Given the description of an element on the screen output the (x, y) to click on. 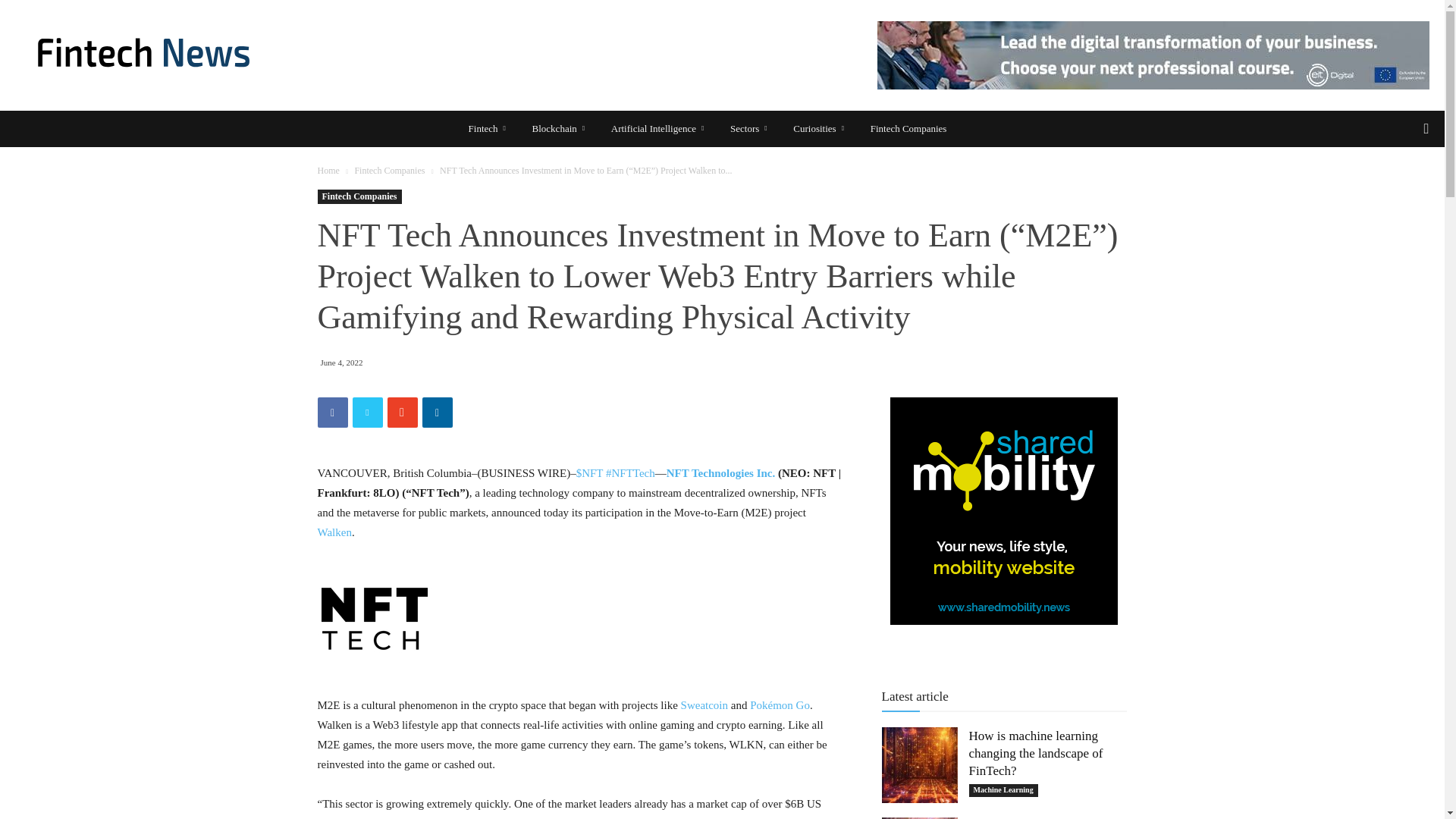
FintechNews.org (143, 54)
Fintech (489, 128)
